Given the description of an element on the screen output the (x, y) to click on. 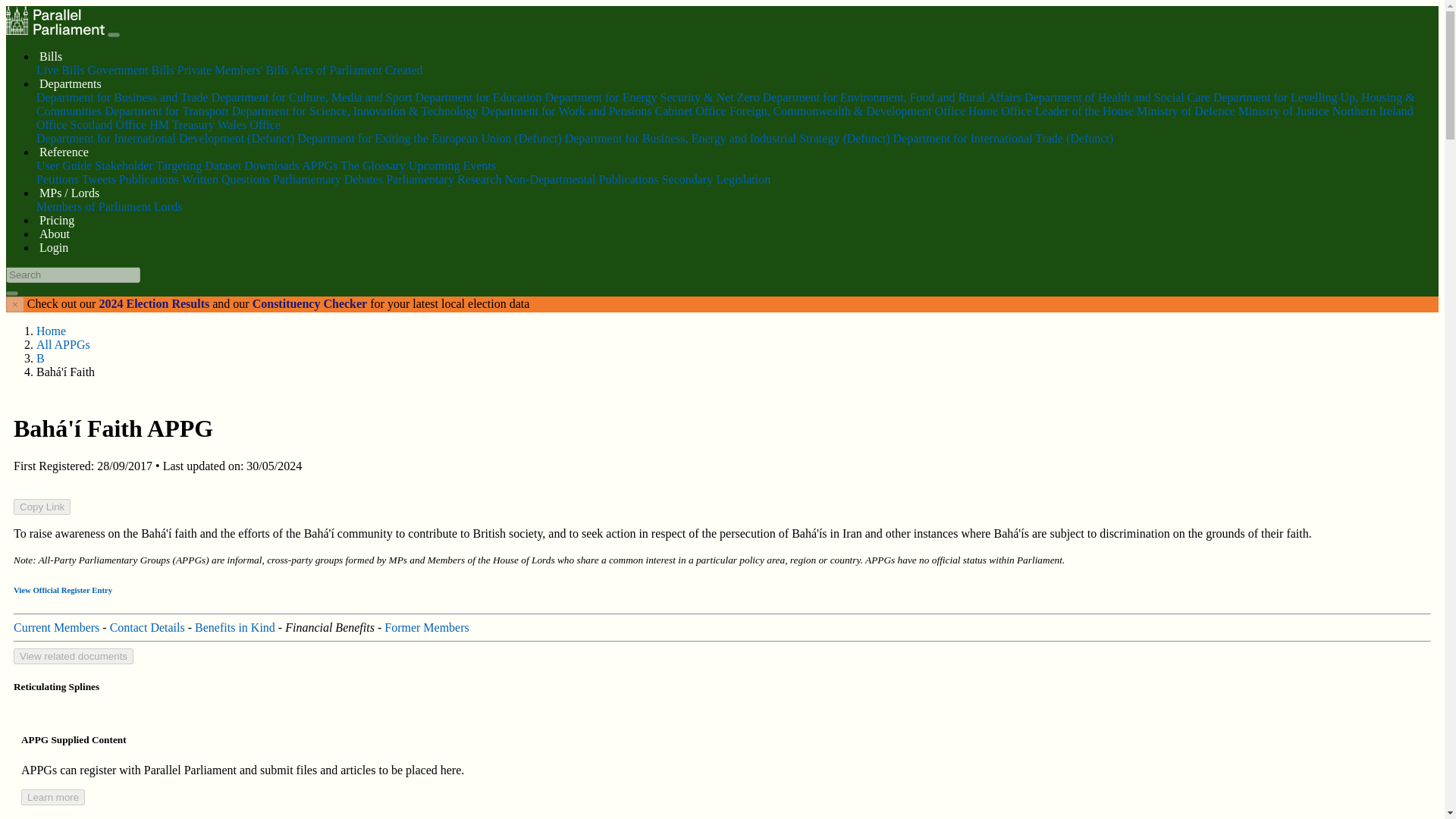
User Guide (63, 164)
Petitions (57, 178)
Dataset Downloads (252, 164)
Upcoming Events (452, 164)
Leader of the House (1084, 110)
Department for Transport (166, 110)
HM Treasury (181, 124)
Department for Business and Trade (122, 97)
Department for Work and Pensions (565, 110)
Scotland Office (108, 124)
Ministry of Justice (1284, 110)
APPGs (319, 164)
Live Bills (60, 69)
Stakeholder Targeting (148, 164)
Departments (70, 83)
